Given the description of an element on the screen output the (x, y) to click on. 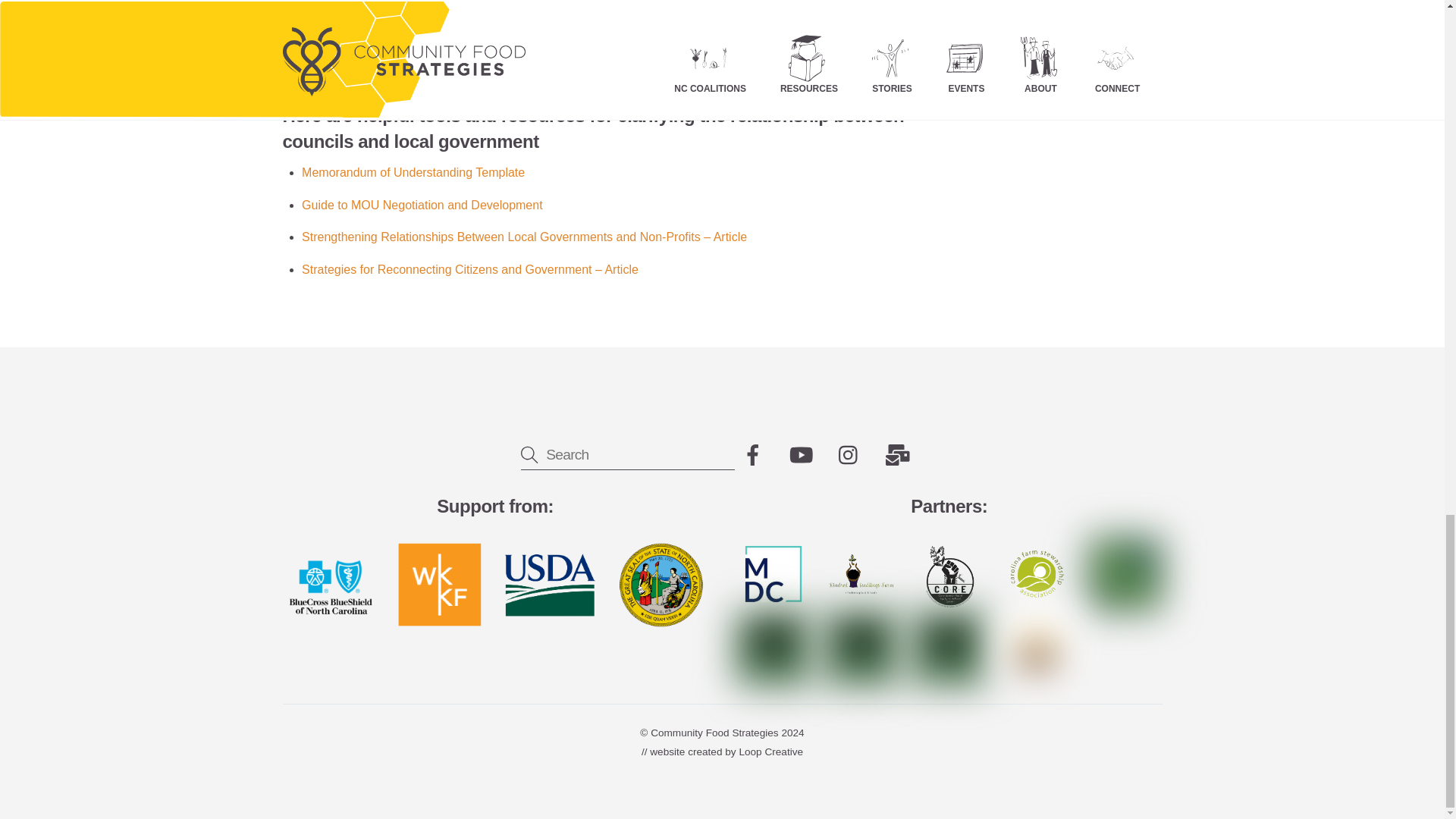
Memorandum of Understanding Template (412, 172)
Guide to MOU Negotiation and Development (422, 205)
Search (628, 454)
